Given the description of an element on the screen output the (x, y) to click on. 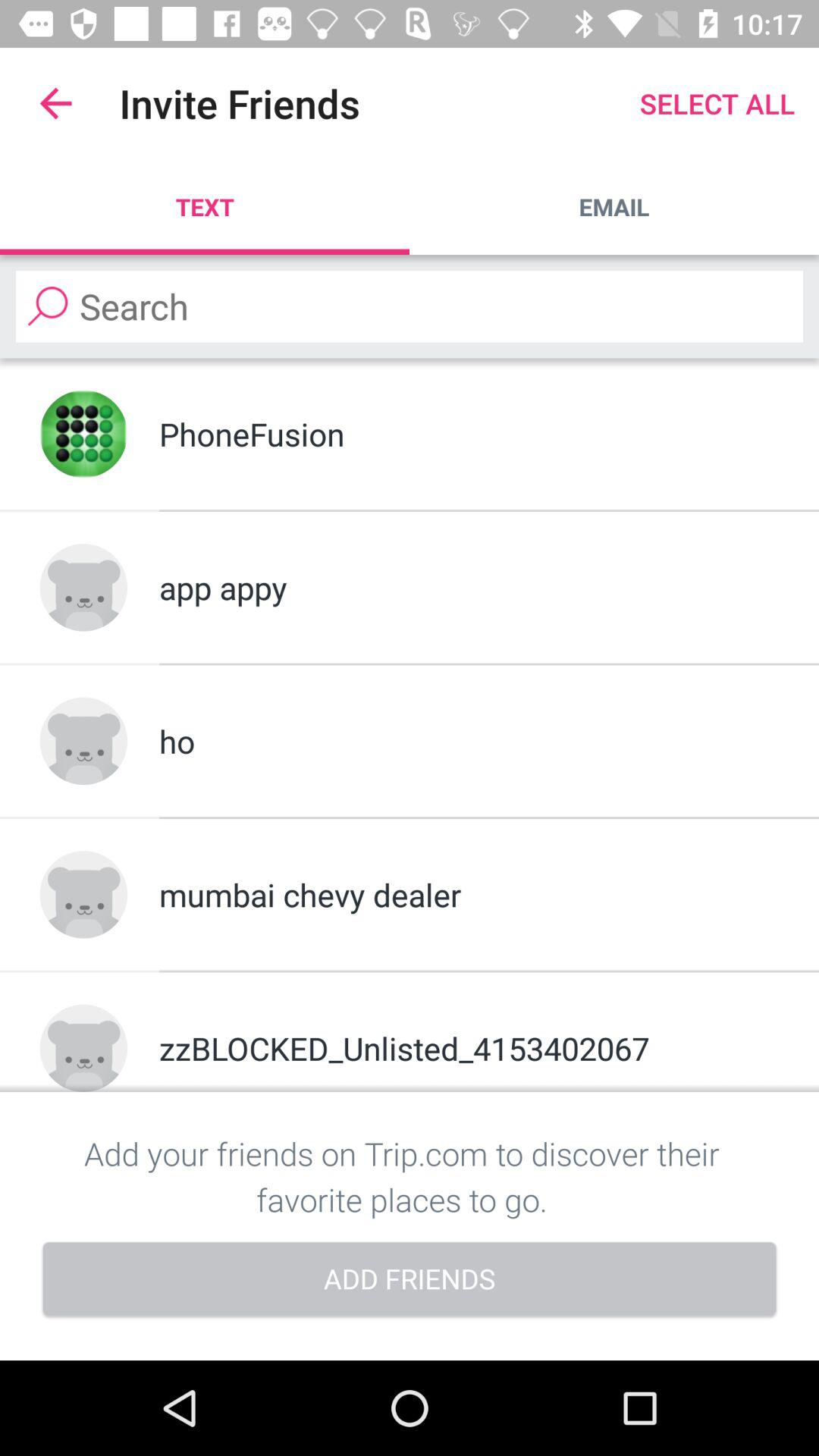
tap icon above mumbai chevy dealer item (469, 740)
